Given the description of an element on the screen output the (x, y) to click on. 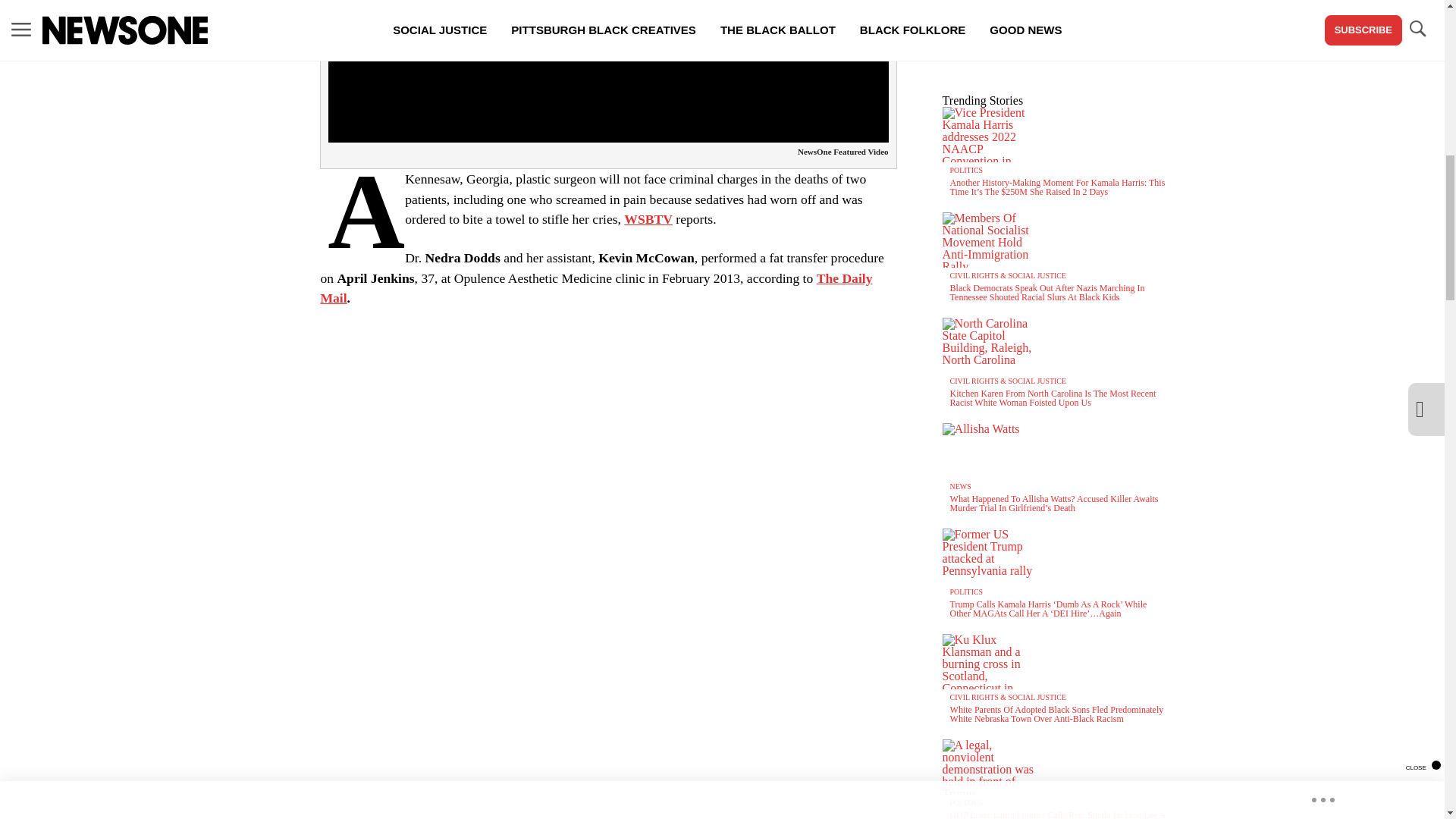
The Daily Mail (596, 288)
WSBTV (648, 218)
